Given the description of an element on the screen output the (x, y) to click on. 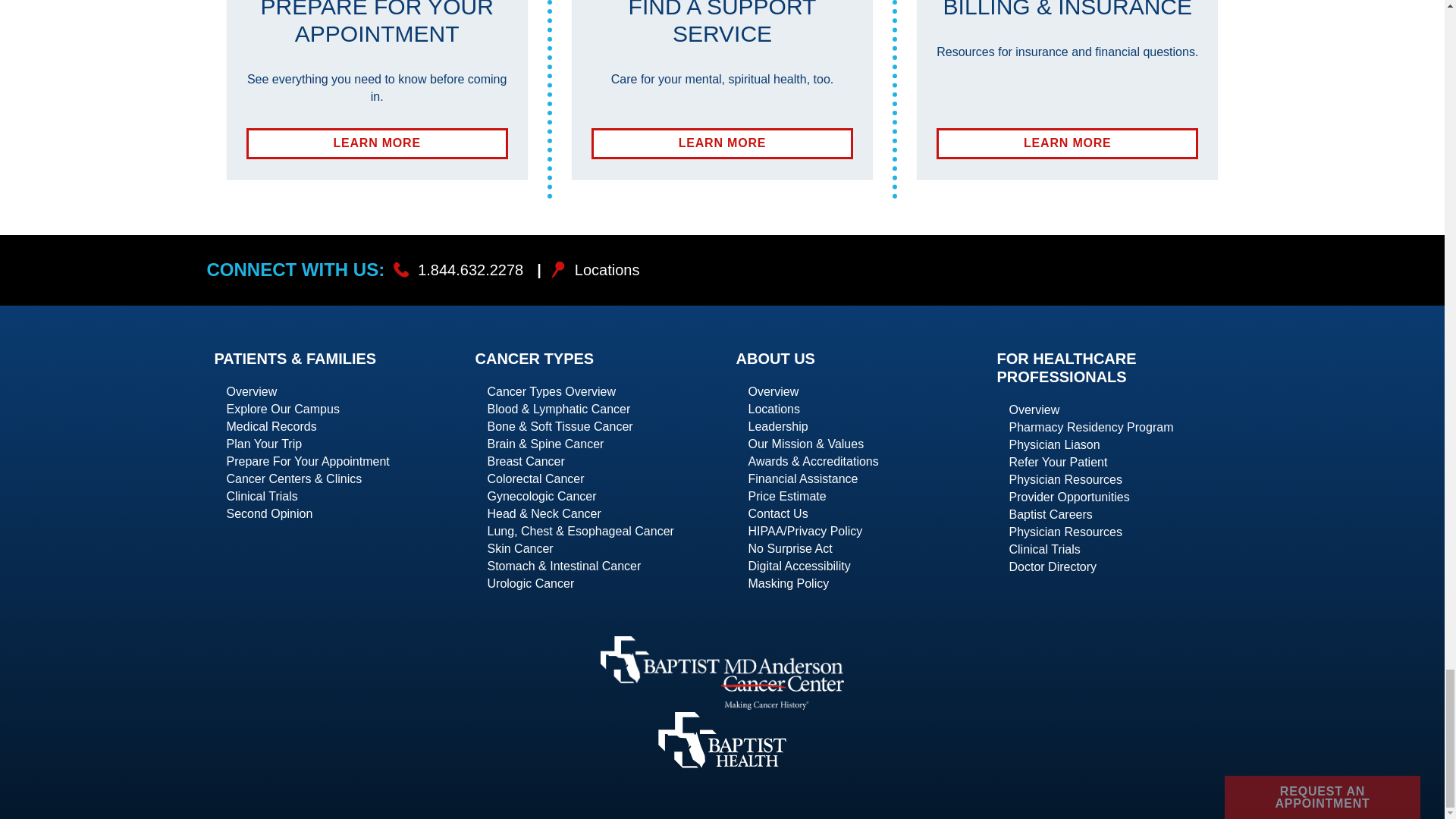
Baptist Health (722, 142)
